Given the description of an element on the screen output the (x, y) to click on. 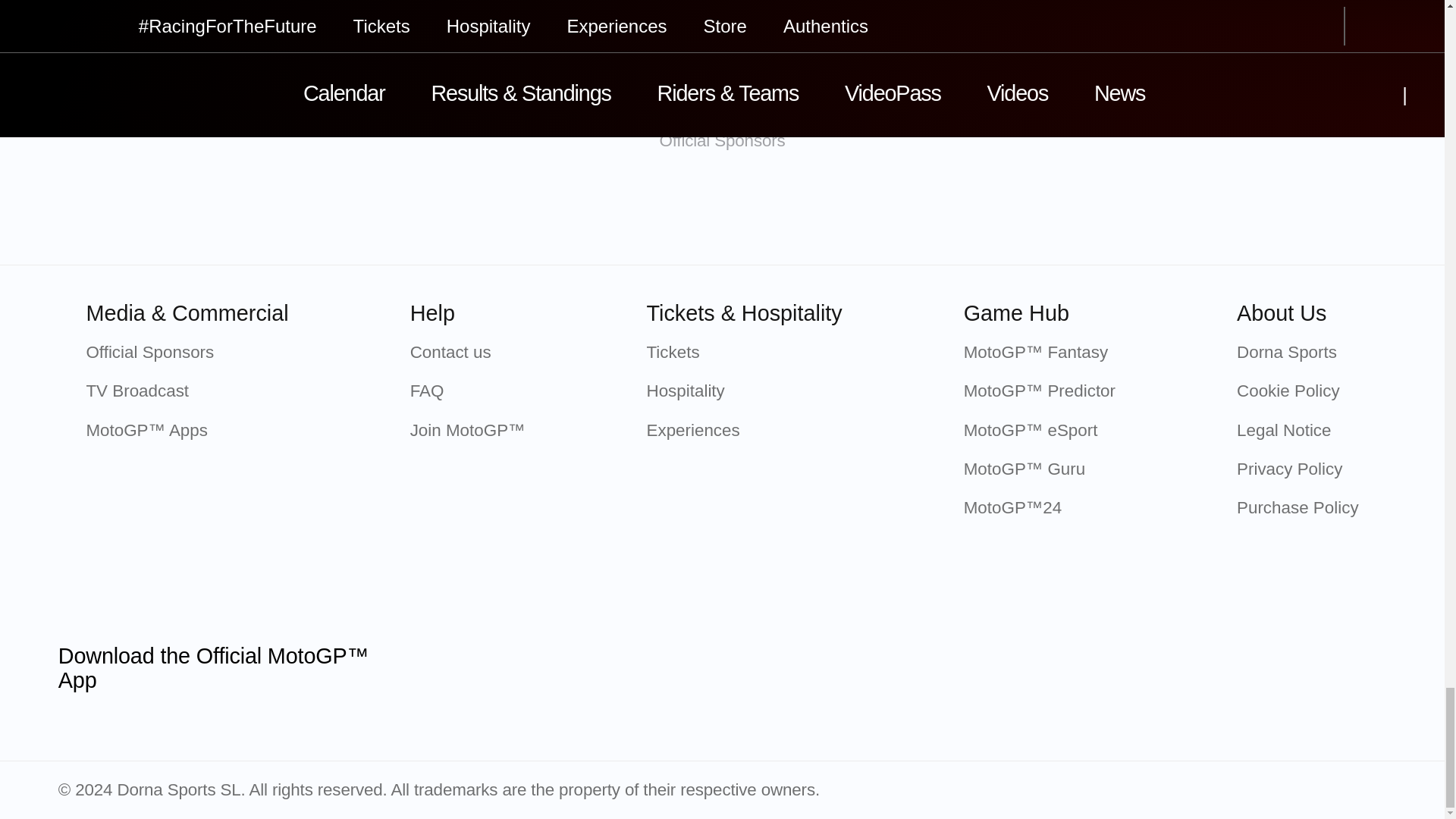
TISSOT (481, 211)
BMW M (802, 211)
MICHELIN (642, 211)
ESTRELLA GALICIA (962, 211)
DHL (1122, 211)
QATAR (321, 211)
